Given the description of an element on the screen output the (x, y) to click on. 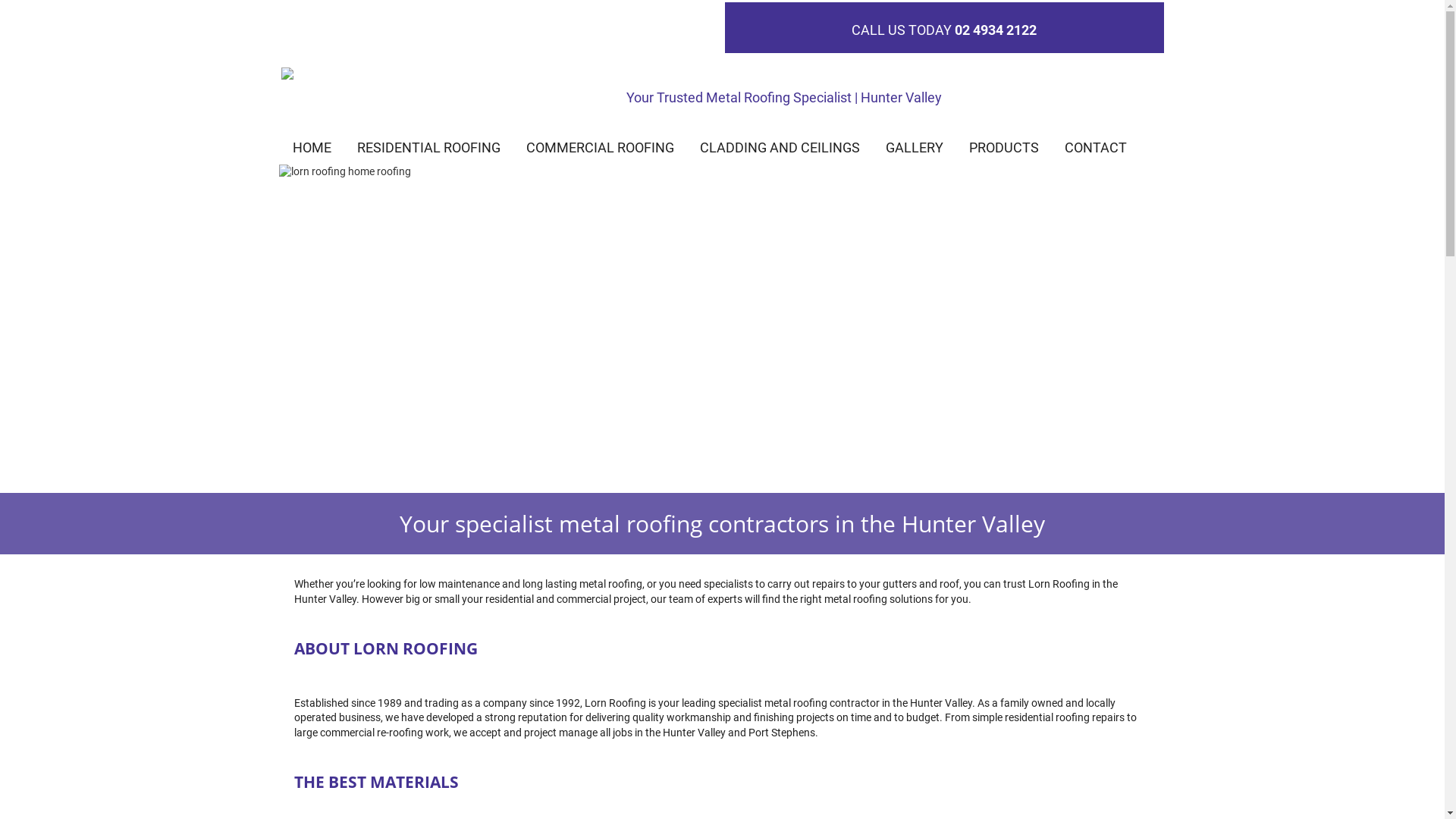
02 4934 2122 Element type: text (995, 29)
HOME Element type: text (311, 147)
CLADDING AND CEILINGS Element type: text (779, 147)
PRODUCTS Element type: text (1003, 147)
GALLERY Element type: text (914, 147)
lorn roofing logo roofing Element type: hover (389, 74)
CONTACT Element type: text (1095, 147)
RESIDENTIAL ROOFING Element type: text (427, 147)
COMMERCIAL ROOFING Element type: text (600, 147)
lorn roofing home roofing Element type: hover (722, 328)
